Given the description of an element on the screen output the (x, y) to click on. 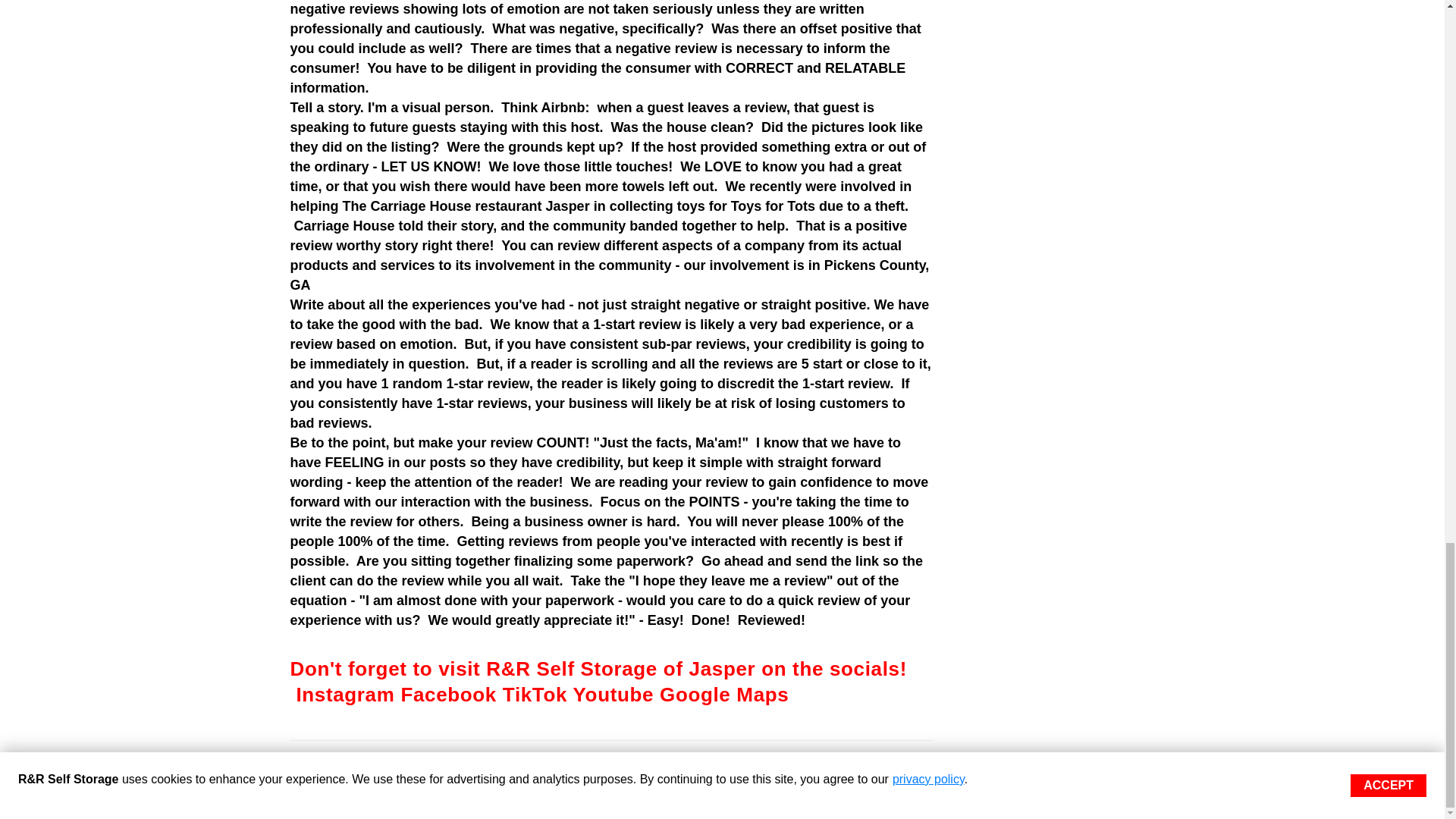
Toys for Tots (772, 206)
Facebook (448, 694)
The Carriage House (406, 206)
Airbnb (563, 107)
TikTok (534, 694)
Google Maps (724, 694)
Pickens County, GA (611, 274)
Youtube (613, 694)
Instagram (344, 694)
